Given the description of an element on the screen output the (x, y) to click on. 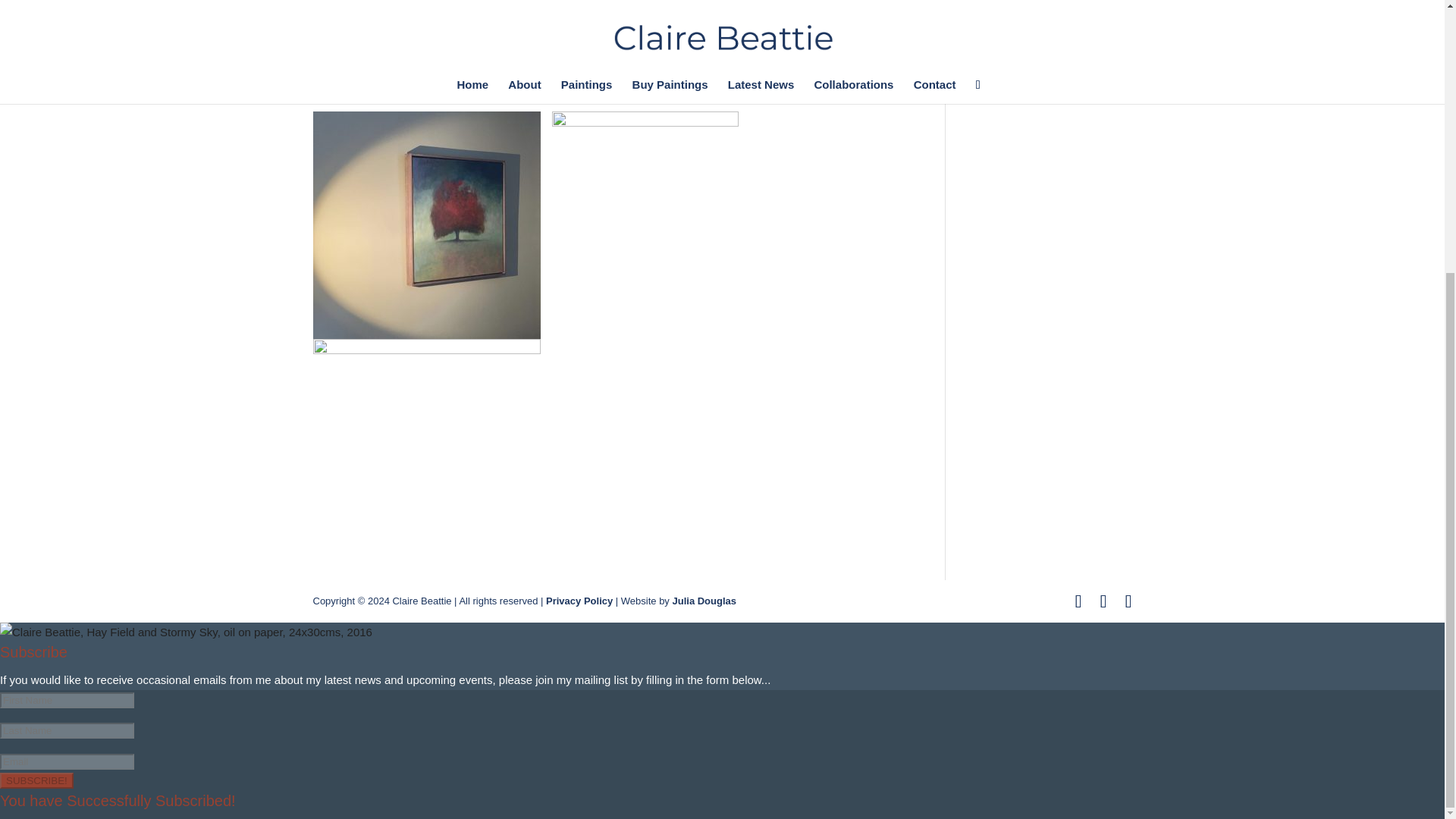
SUBSCRIBE! (37, 780)
Privacy Policy (579, 600)
Julia Douglas (703, 600)
sale online (683, 59)
